Given the description of an element on the screen output the (x, y) to click on. 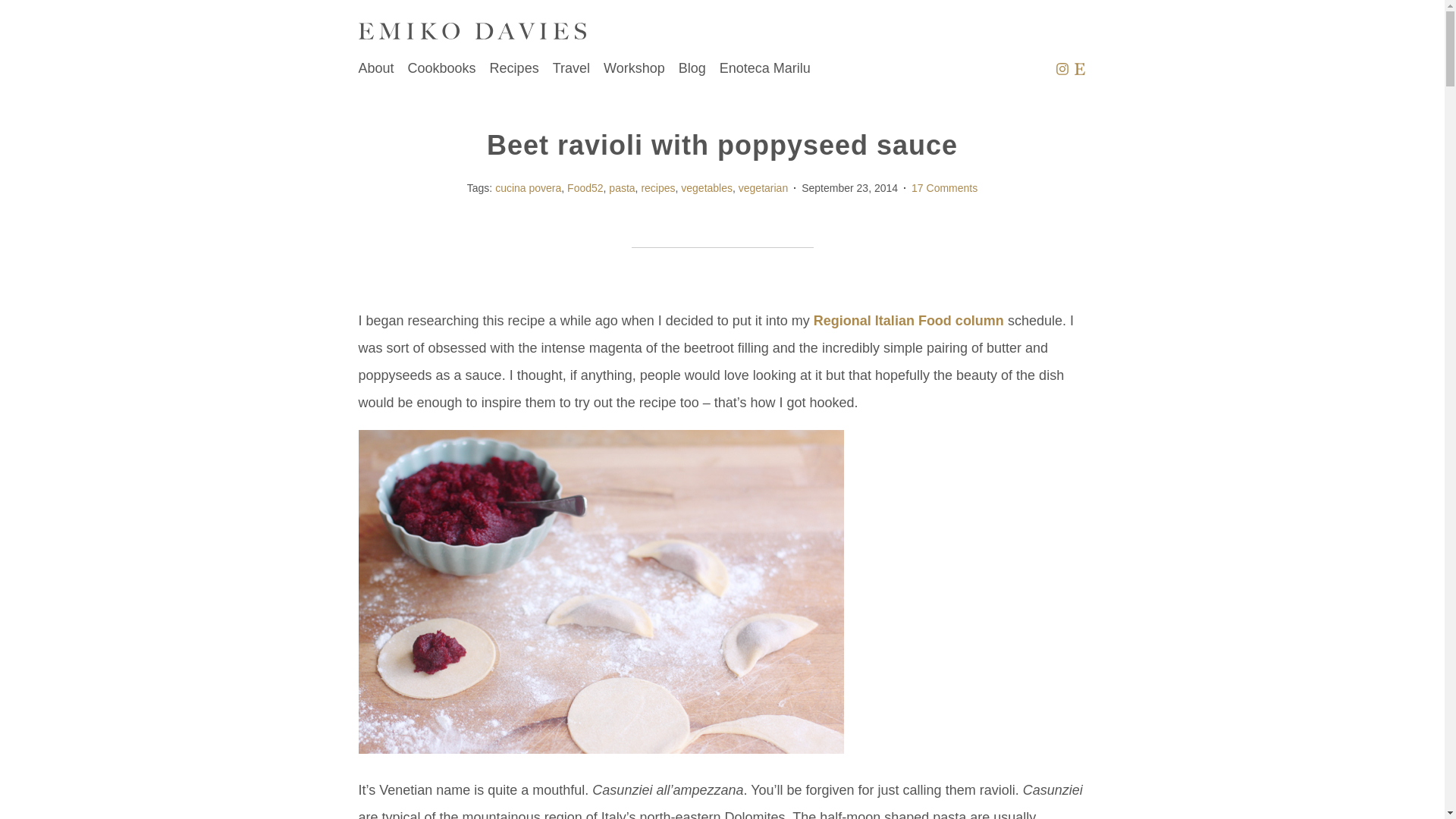
cucina povera (527, 187)
Cookbooks (441, 68)
Travel (571, 68)
Workshop (634, 68)
About (375, 68)
Food52 (584, 187)
Enoteca Marilu (764, 68)
Recipes (513, 68)
